Given the description of an element on the screen output the (x, y) to click on. 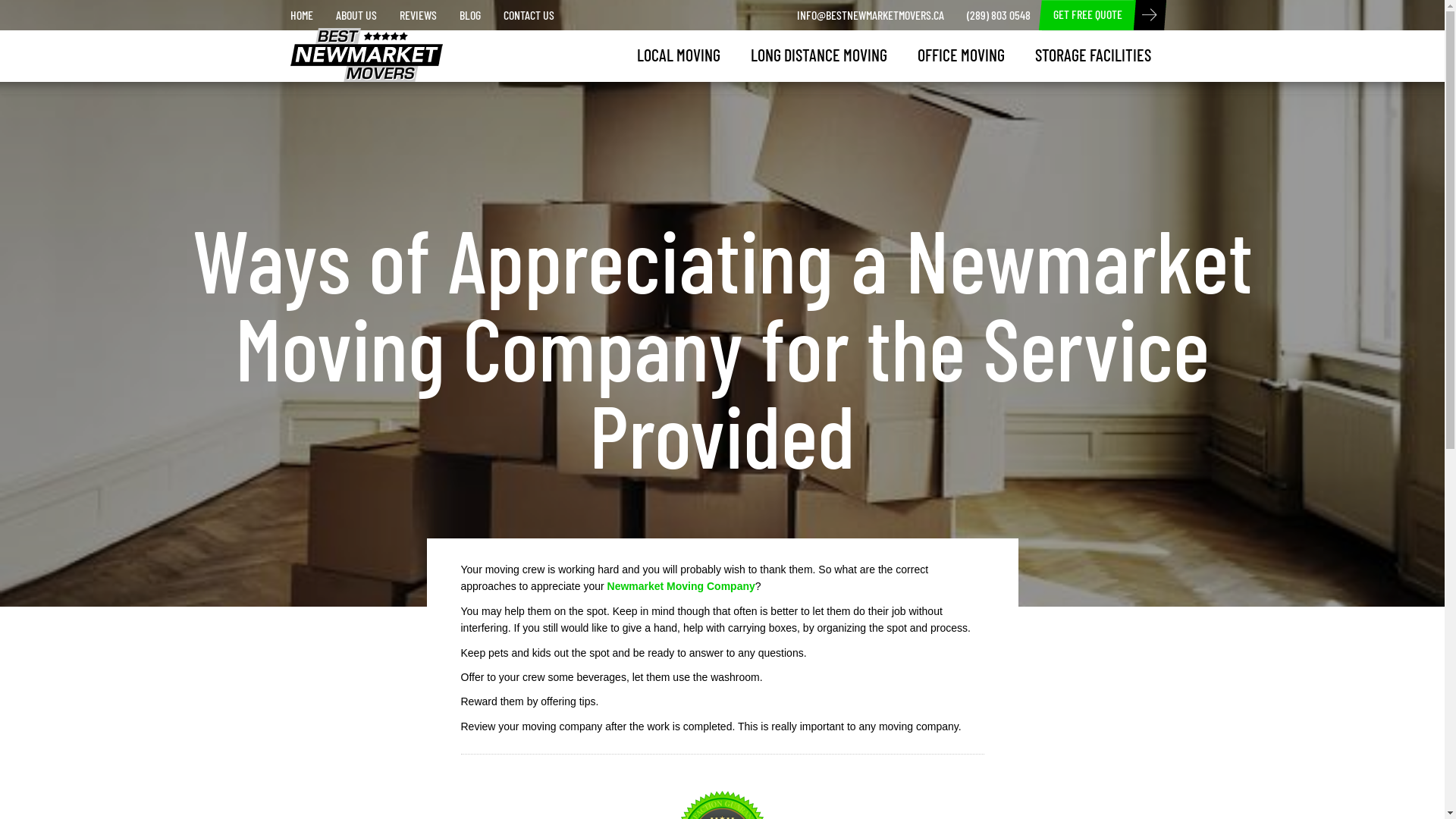
STORAGE FACILITIES Element type: text (1092, 54)
REVIEWS Element type: text (418, 15)
INFO@BESTNEWMARKETMOVERS.CA Element type: text (870, 15)
GET FREE QUOTE Element type: text (1087, 15)
HOME Element type: text (301, 15)
Newmarket Moving Company Element type: text (681, 586)
BLOG Element type: text (469, 15)
Best Movers in Newmarket Element type: hover (354, 46)
CONTACT US Element type: text (527, 15)
(289) 803 0548 Element type: text (998, 15)
OFFICE MOVING Element type: text (960, 54)
LOCAL MOVING Element type: text (678, 54)
LONG DISTANCE MOVING Element type: text (818, 54)
ABOUT US Element type: text (356, 15)
